Given the description of an element on the screen output the (x, y) to click on. 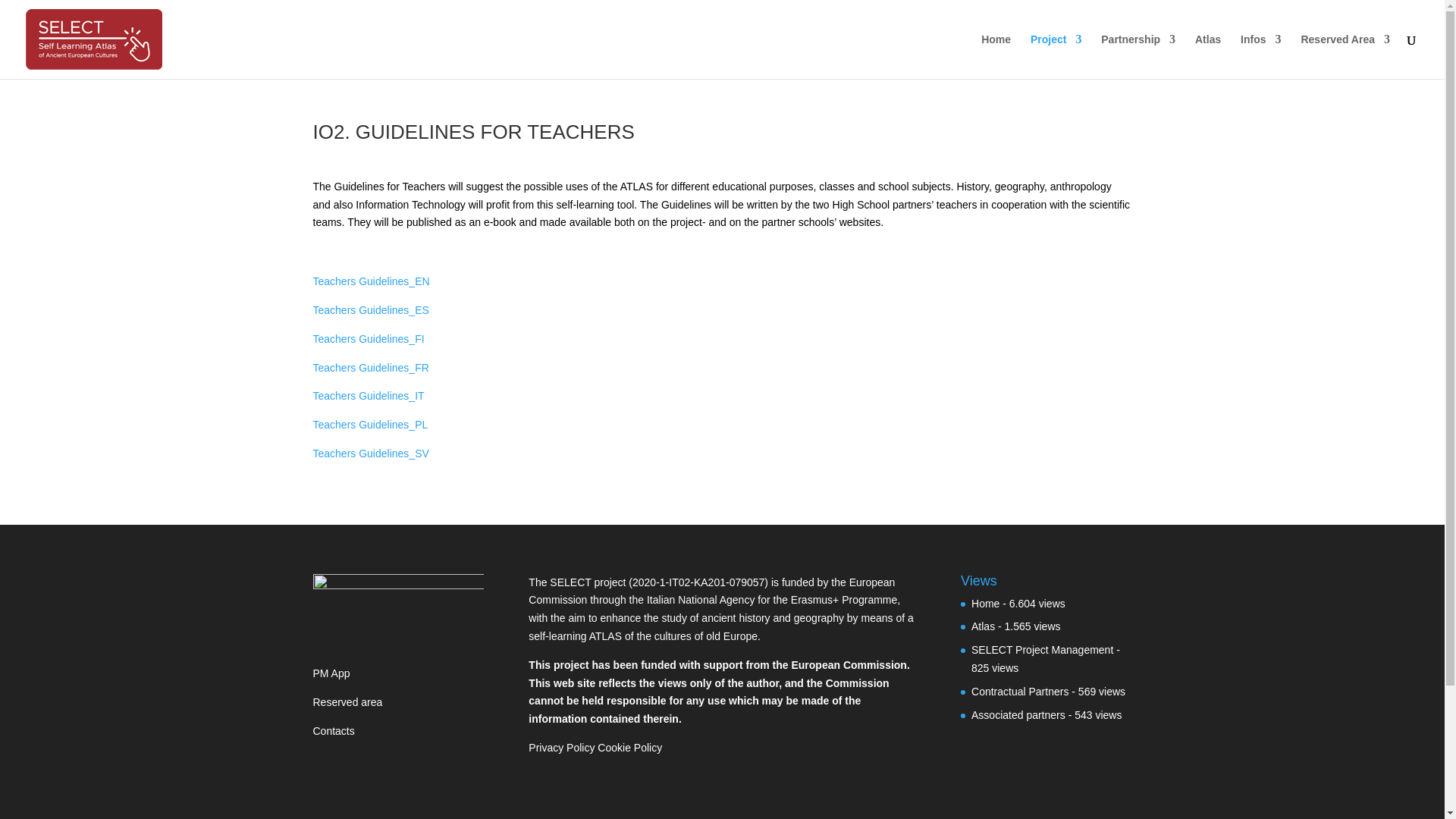
Cookie Policy  (629, 747)
Privacy Policy  (561, 747)
SELECT Project Management (1042, 649)
Contacts (333, 730)
Reserved area (347, 702)
PM App (331, 673)
Infos (1260, 56)
Associated partners (1018, 715)
Contractual Partners (1019, 691)
Project (1055, 56)
